Given the description of an element on the screen output the (x, y) to click on. 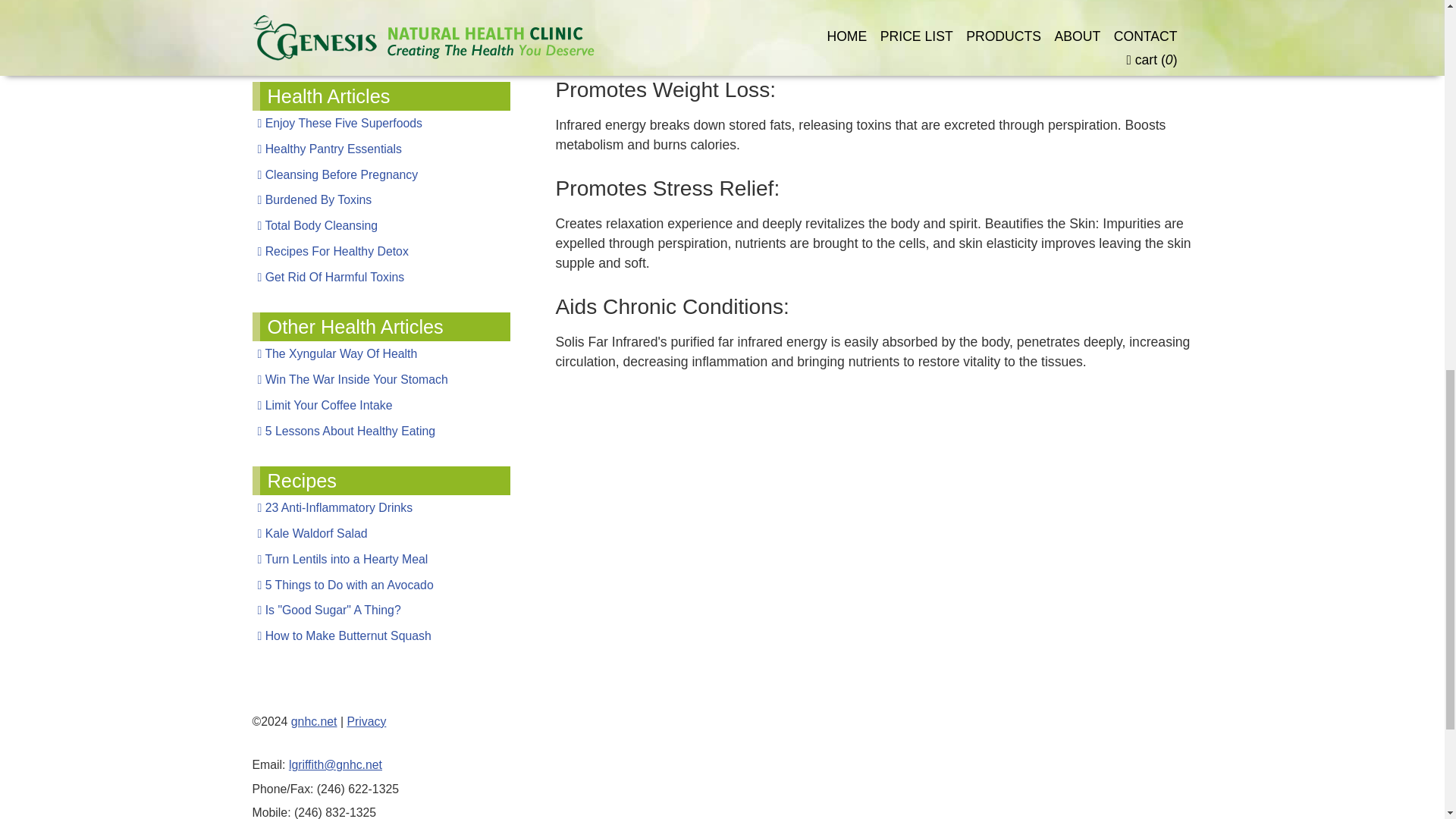
Total Body Cleansing (380, 225)
Enjoy These Five Superfoods (380, 123)
Burdened By Toxins (380, 199)
Get Rid Of Harmful Toxins (380, 277)
Win The War Inside Your Stomach (380, 379)
Colon Hydrotherapy Faq (380, 4)
Recipes For Healthy Detox (380, 251)
Limit Your Coffee Intake (380, 405)
Healthy Pantry Essentials (380, 149)
Preparing For Colon Hydrotherapy (380, 20)
Healing Crisis (380, 45)
Cleansing Before Pregnancy (380, 175)
The Xyngular Way Of Health (380, 353)
5 Lessons About Healthy Eating (380, 431)
